Given the description of an element on the screen output the (x, y) to click on. 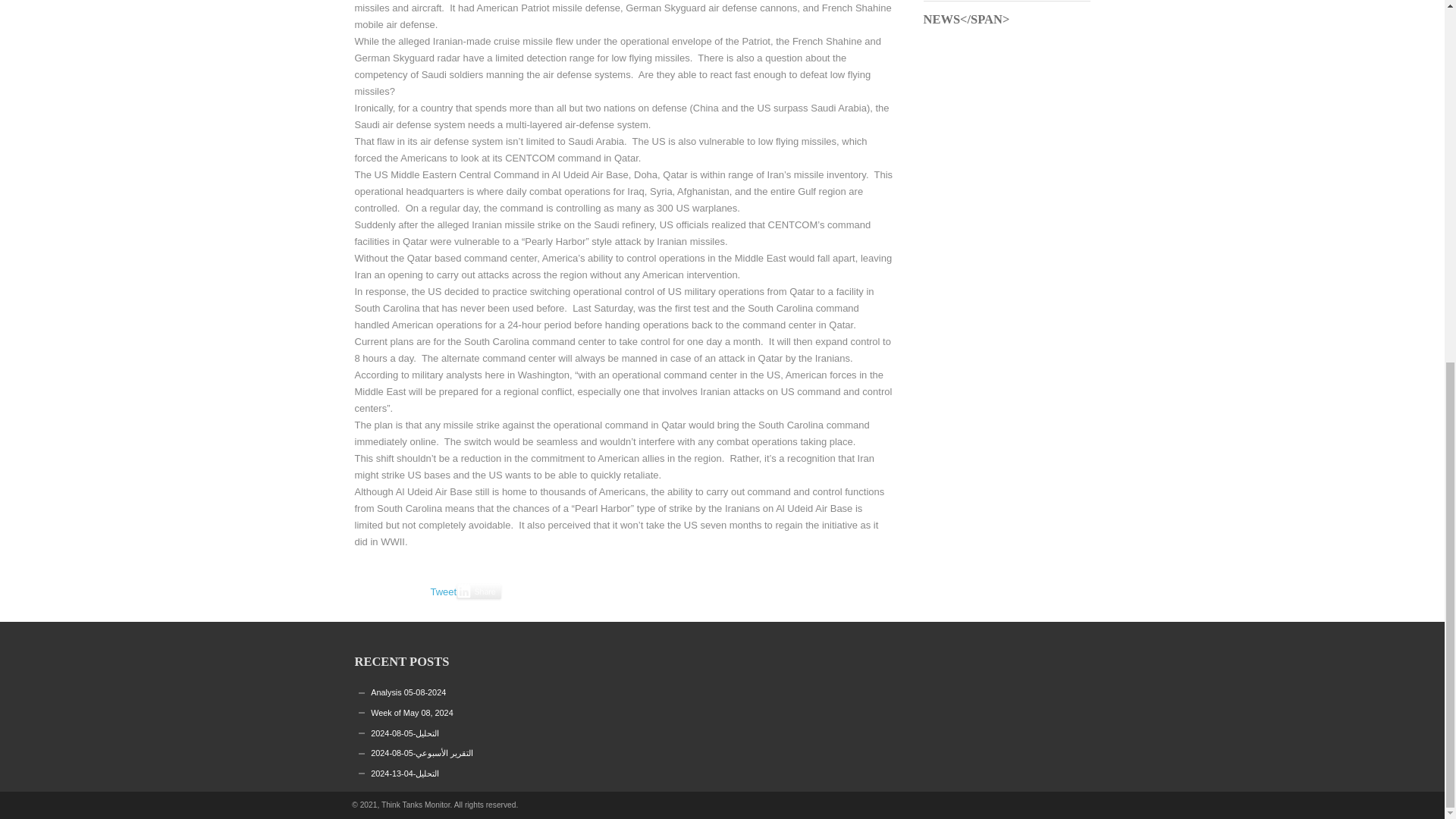
Tweet (443, 591)
Analysis 05-08-2024 (408, 691)
Week of May 08, 2024 (411, 712)
Share (478, 590)
